Given the description of an element on the screen output the (x, y) to click on. 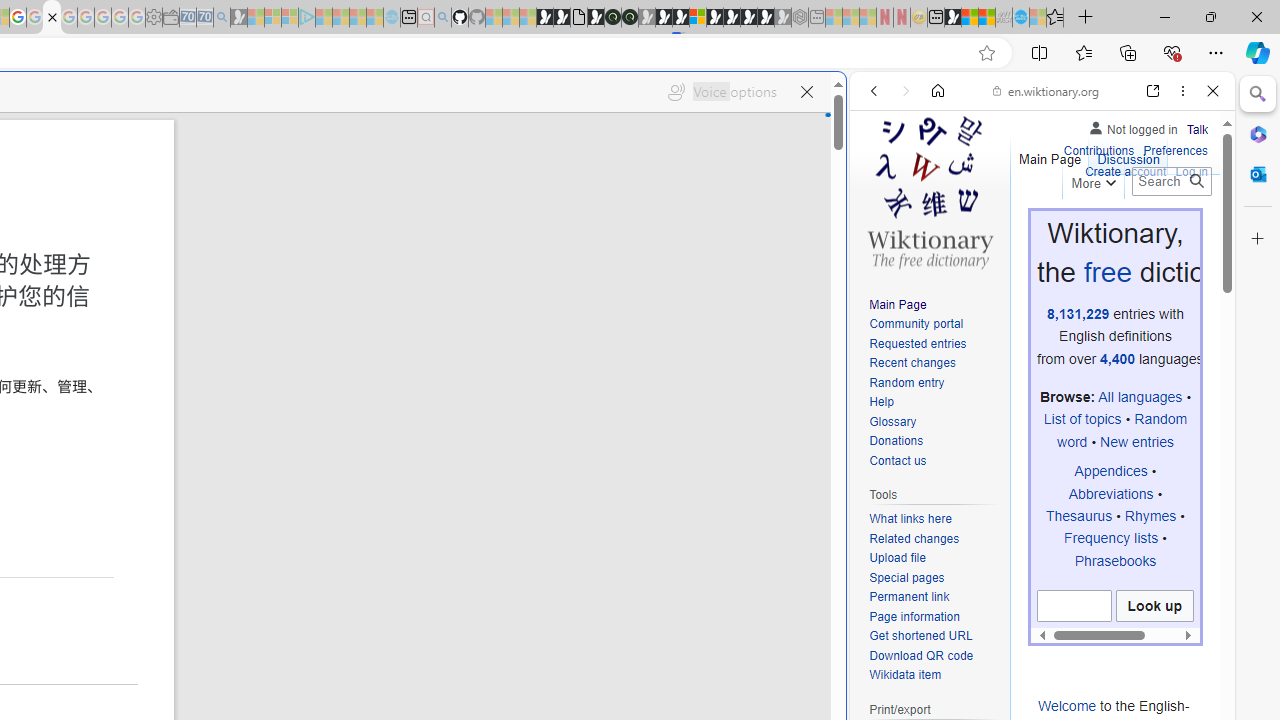
Permanent link (909, 596)
Random word (1122, 430)
Create account (1125, 172)
Close Customize pane (1258, 239)
Donations (896, 441)
Log in (1191, 172)
Create account (1125, 169)
Search Wiktionary (1171, 181)
Donations (934, 442)
List of topics (1082, 419)
